Given the description of an element on the screen output the (x, y) to click on. 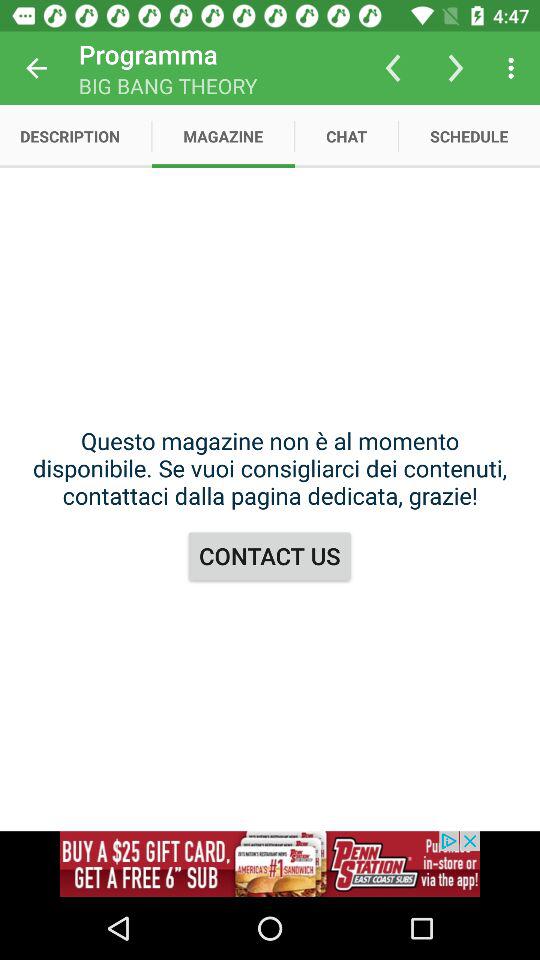
open advertisement (270, 864)
